Given the description of an element on the screen output the (x, y) to click on. 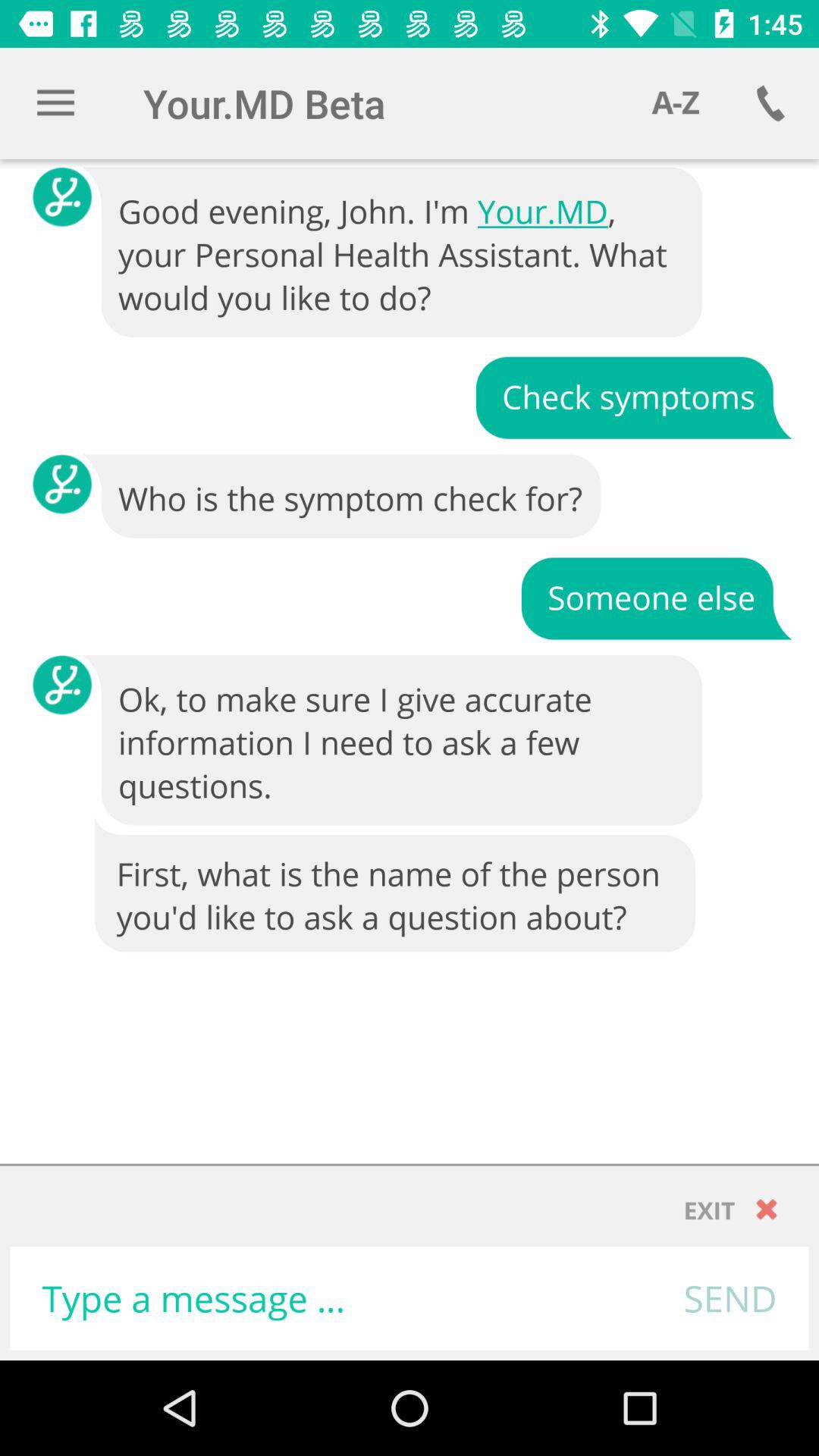
launch the check symptoms icon (633, 396)
